Given the description of an element on the screen output the (x, y) to click on. 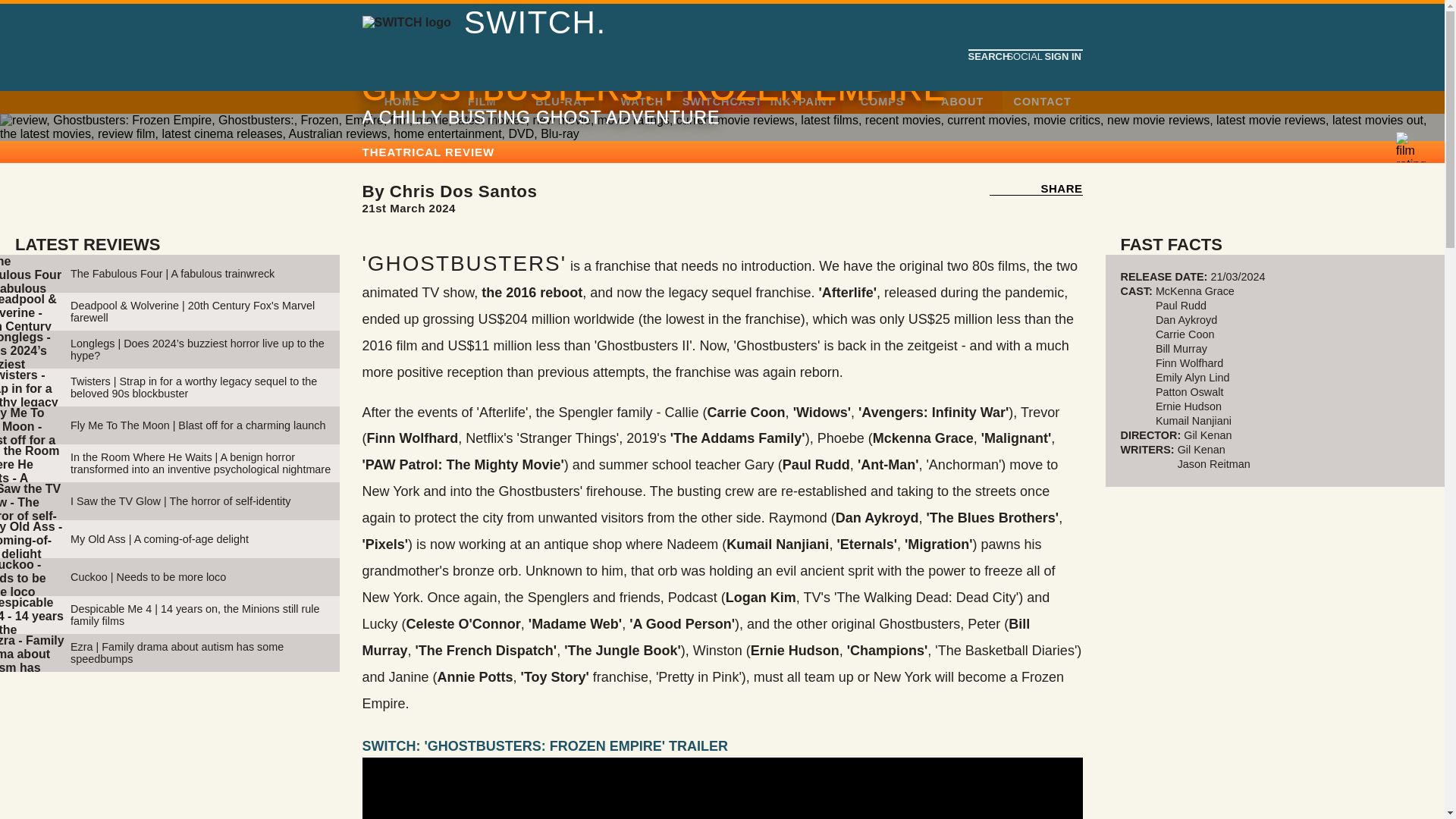
CONTACT (1041, 101)
WATCH (642, 101)
HOME (402, 101)
SIGN IN (1062, 56)
SWITCHCAST (722, 101)
FILM (481, 102)
SWITCH. (535, 22)
COMPS (882, 101)
BLU-RAY (561, 101)
ABOUT (962, 101)
SEARCH (987, 56)
SIGN IN (771, 199)
